Given the description of an element on the screen output the (x, y) to click on. 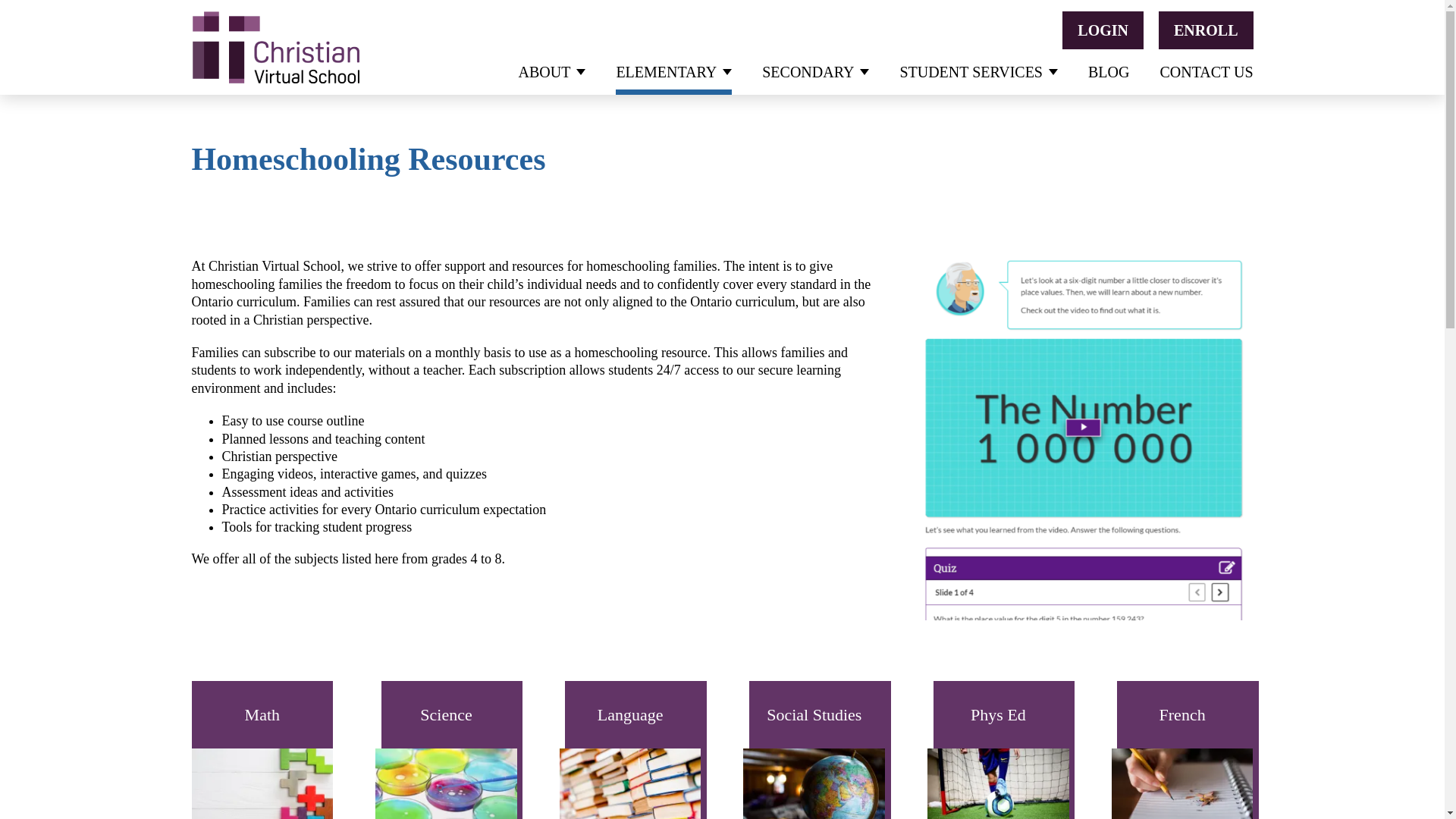
LOGIN (1102, 30)
STUDENT SERVICES (978, 71)
SECONDARY (815, 71)
ELEMENTARY (673, 71)
CONTACT US (1205, 71)
BLOG (1108, 71)
ENROLL (1205, 30)
ABOUT (552, 71)
